Given the description of an element on the screen output the (x, y) to click on. 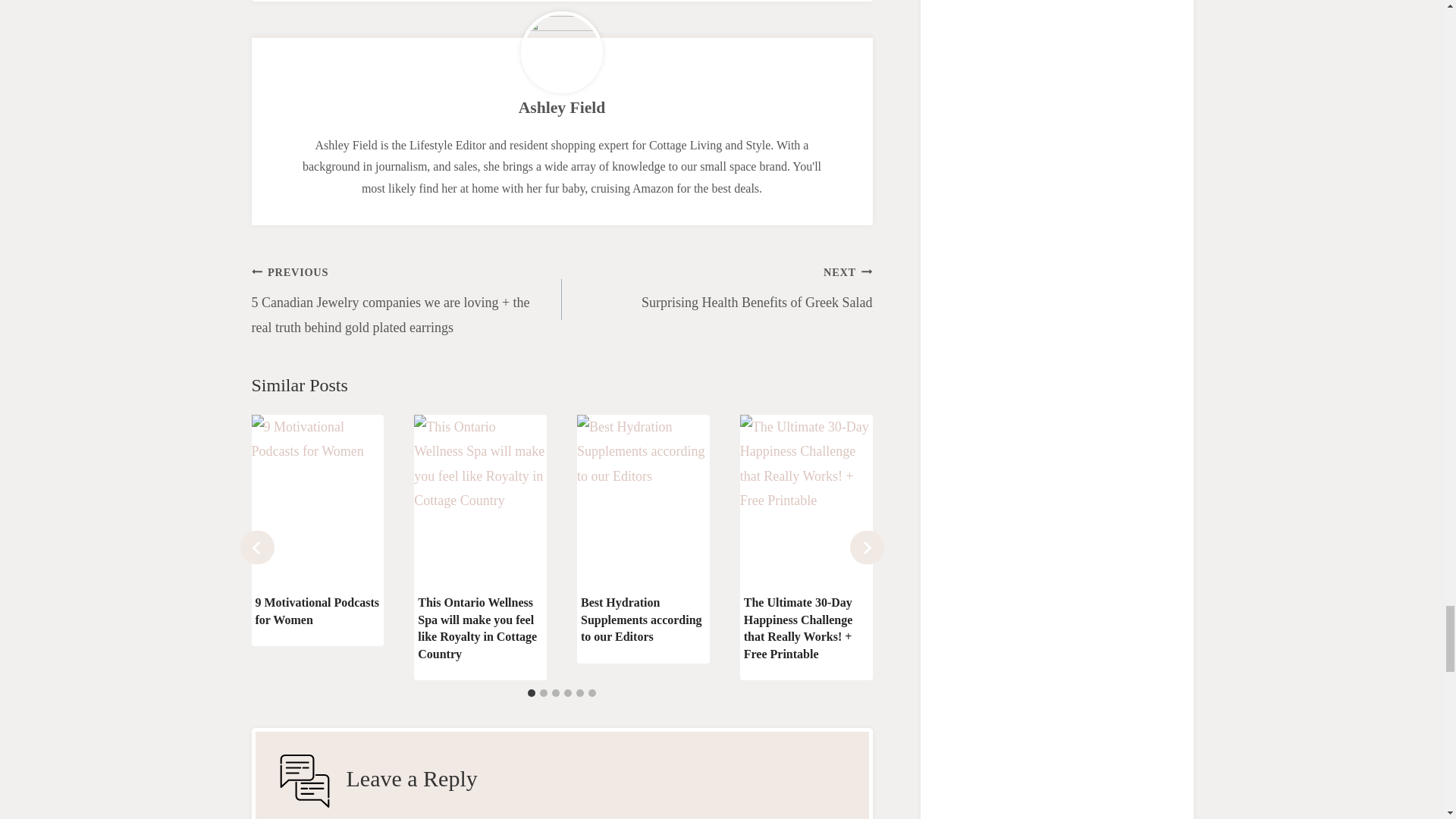
Posts by Ashley Field (561, 107)
